Given the description of an element on the screen output the (x, y) to click on. 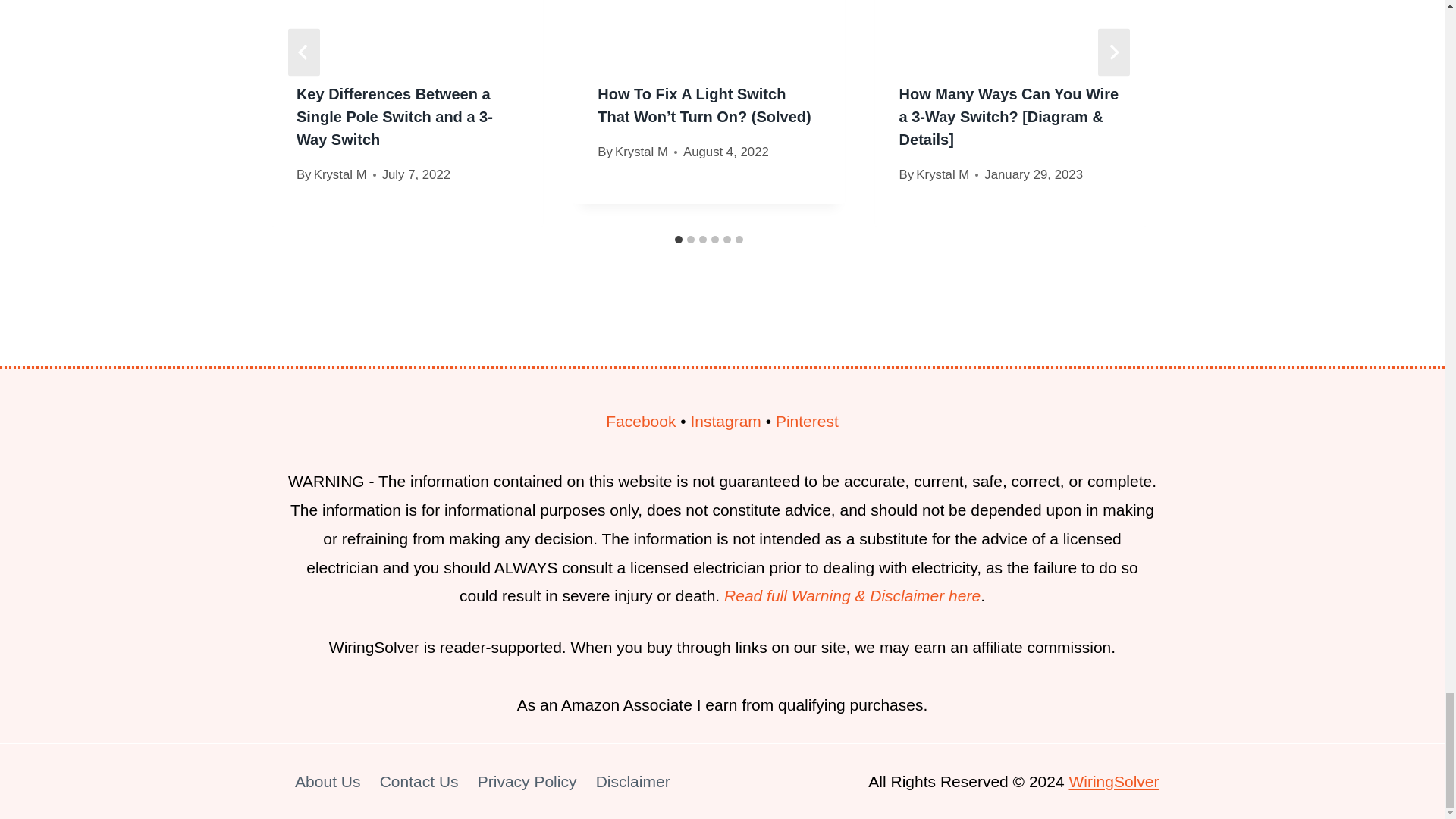
Krystal M (340, 174)
